Given the description of an element on the screen output the (x, y) to click on. 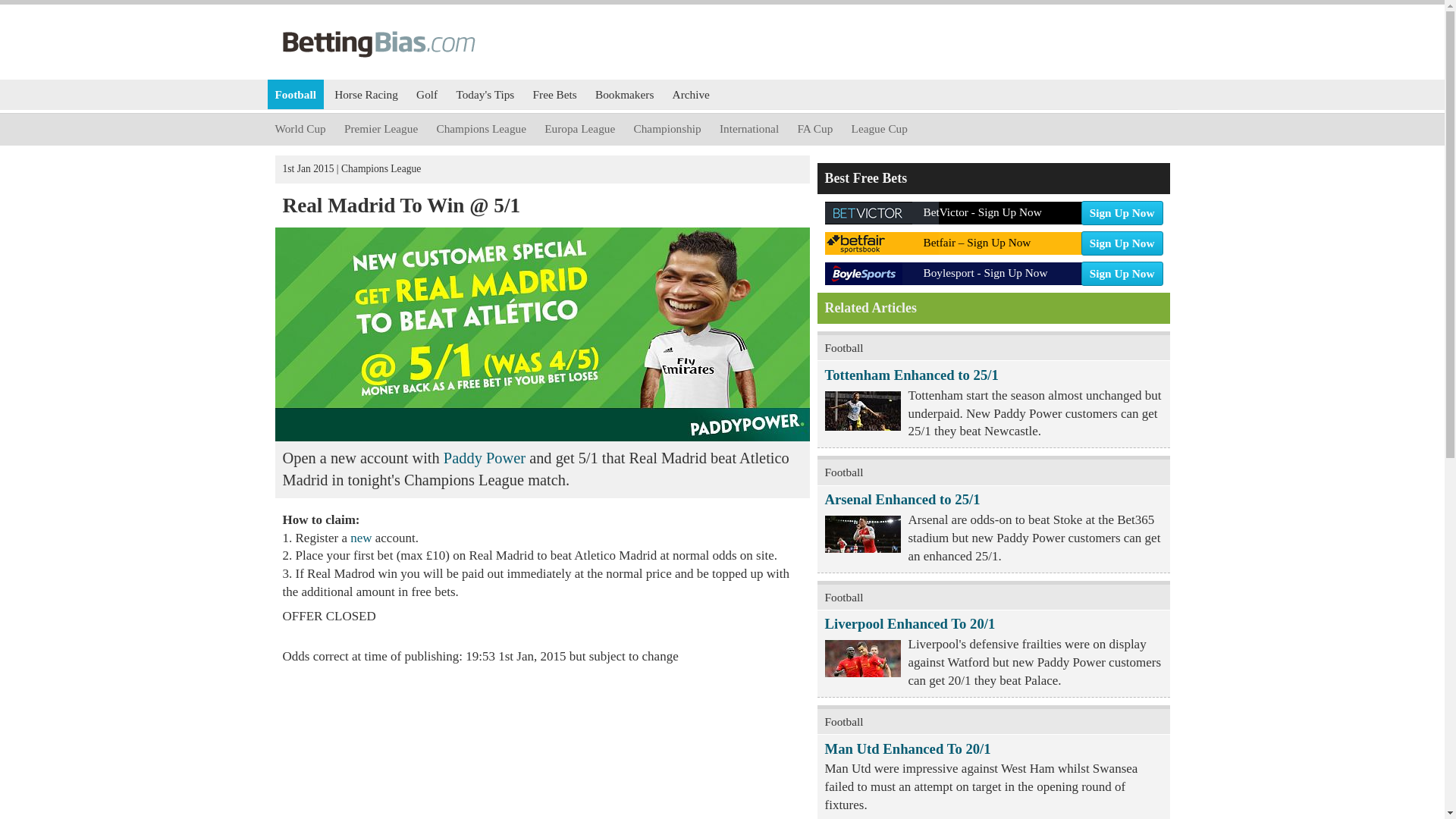
Championship (993, 209)
Bookmakers (667, 128)
Horse Racing (624, 93)
Champions League (366, 93)
International (481, 128)
new (748, 128)
Paddy Power (362, 537)
Football (484, 457)
League Cup (294, 93)
FA Cup (879, 128)
World Cup (814, 128)
Betting Bias - the home of honest tipping advice (299, 128)
Archive (373, 11)
